Given the description of an element on the screen output the (x, y) to click on. 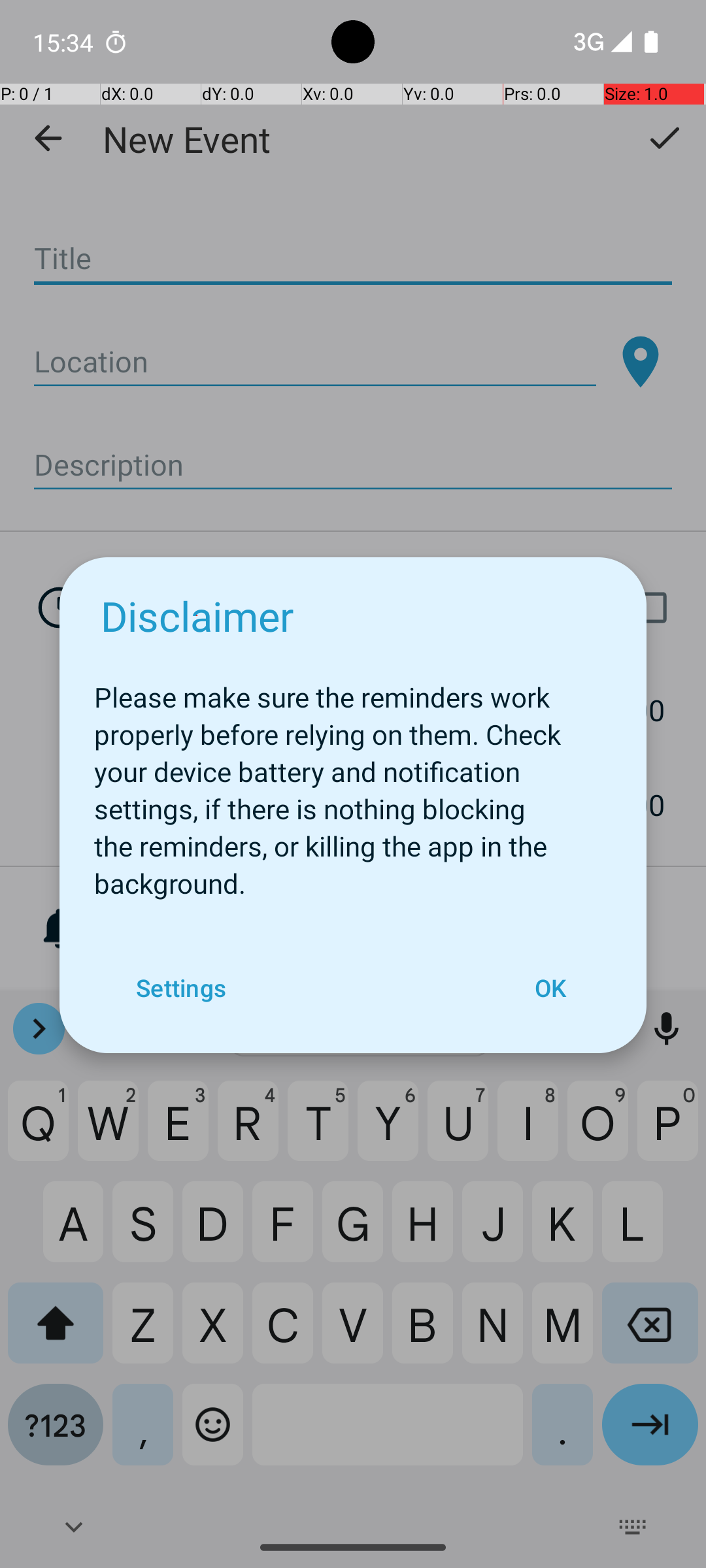
Disclaimer Element type: android.widget.TextView (196, 615)
Please make sure the reminders work properly before relying on them. Check your device battery and notification settings, if there is nothing blocking the reminders, or killing the app in the background. Element type: android.widget.TextView (352, 782)
